Given the description of an element on the screen output the (x, y) to click on. 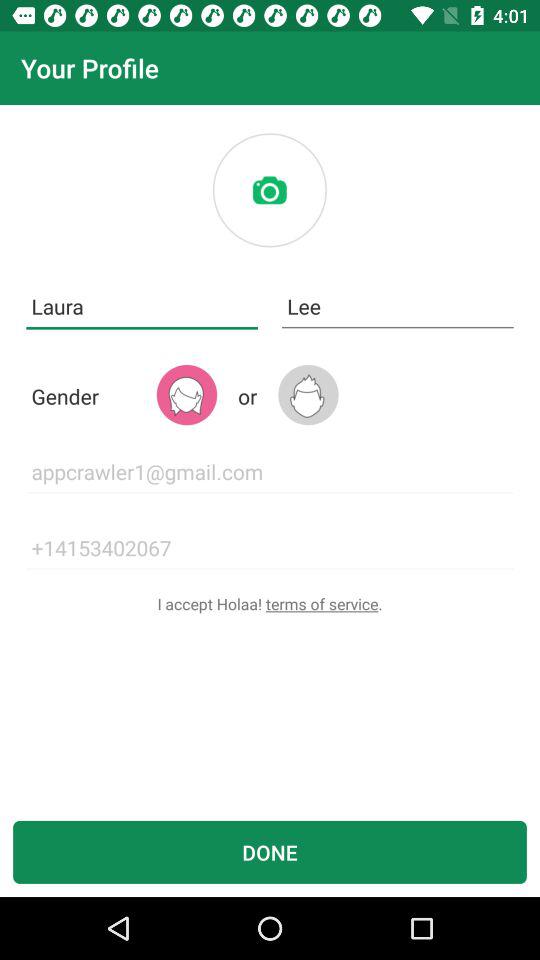
take a profile picture (269, 190)
